Given the description of an element on the screen output the (x, y) to click on. 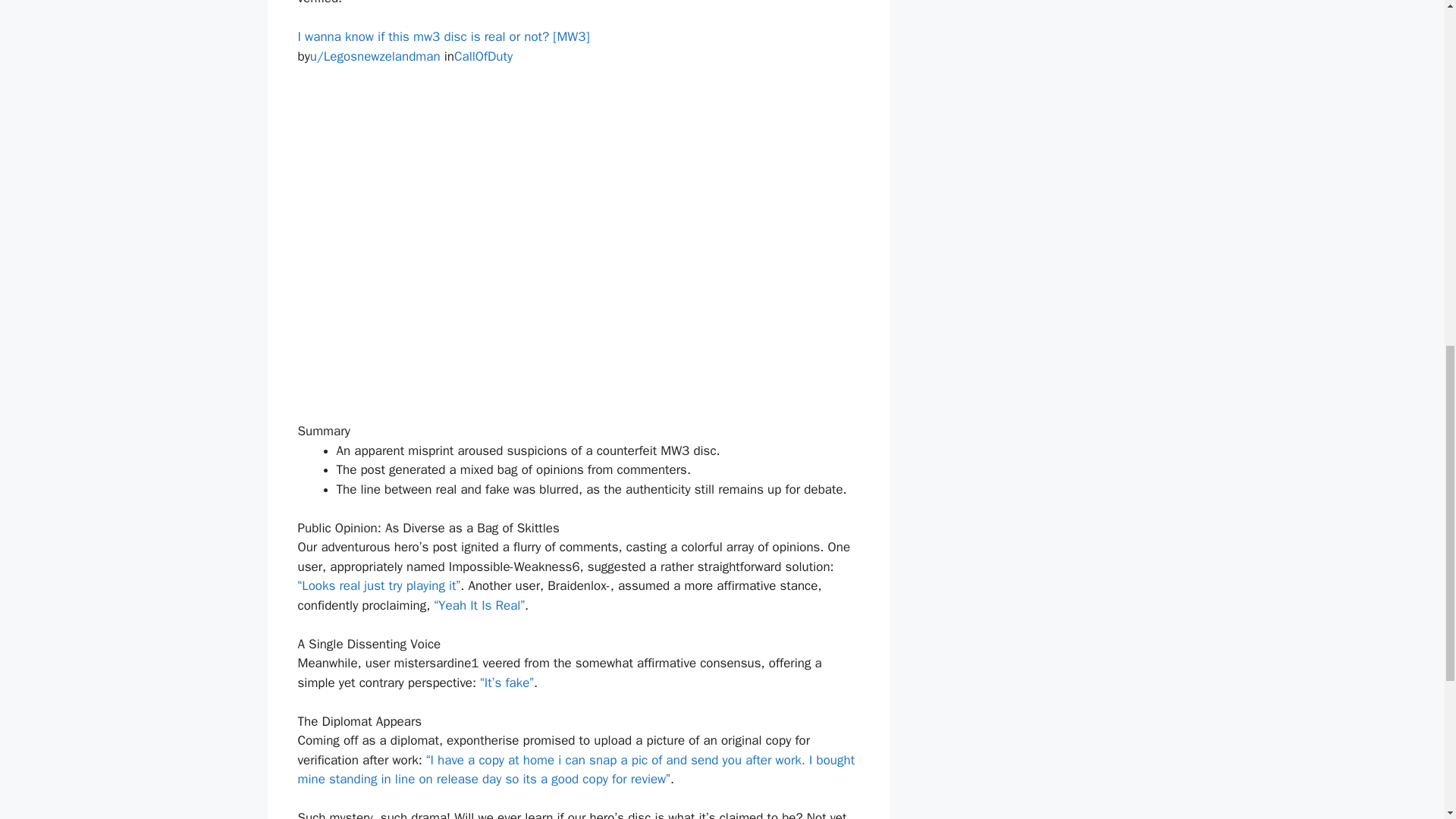
CallOfDuty (483, 56)
